Given the description of an element on the screen output the (x, y) to click on. 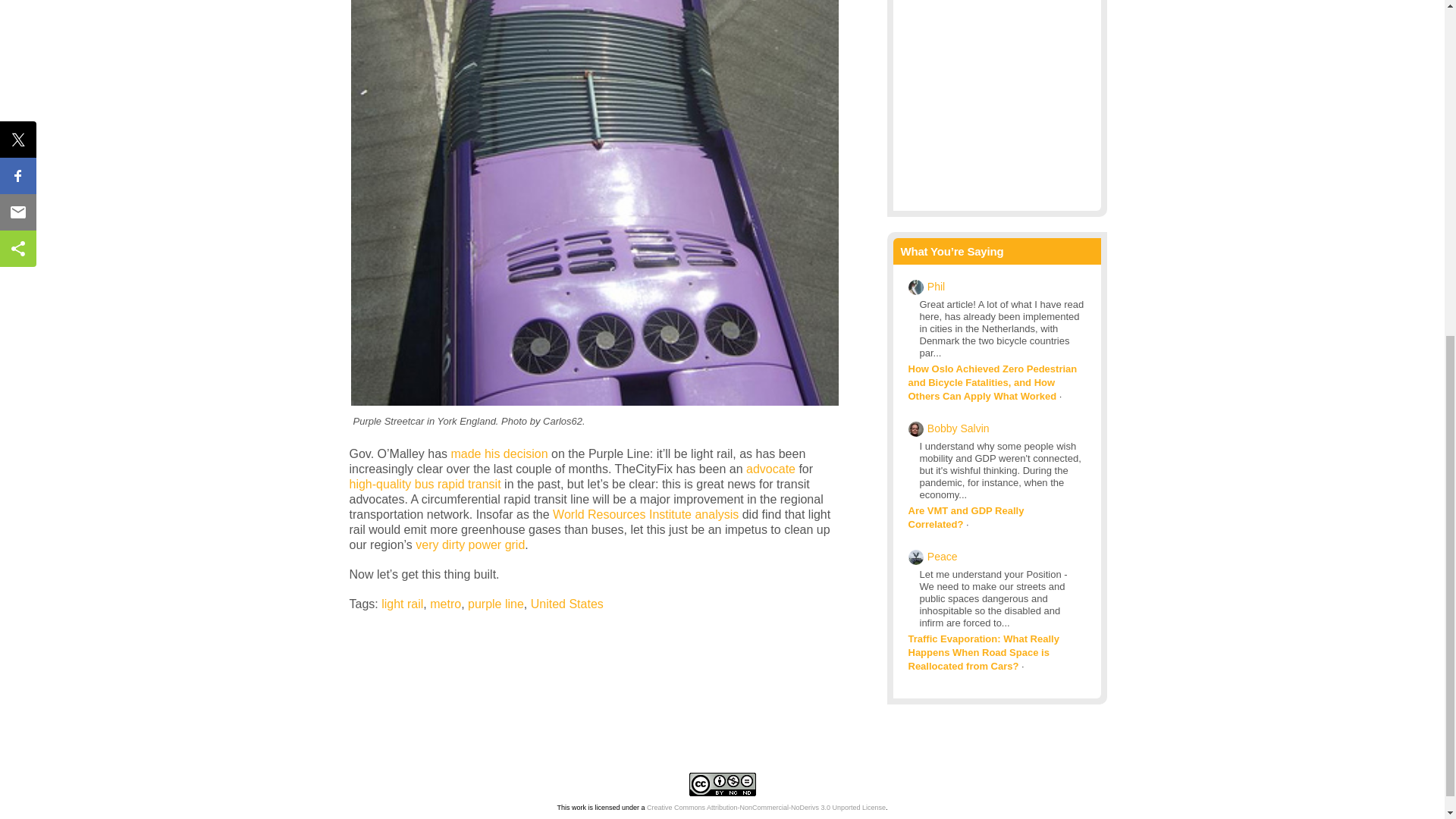
Peace (942, 556)
Phil (935, 286)
Are VMT and GDP Really Correlated? (966, 517)
Bobby Salvin (958, 427)
